Given the description of an element on the screen output the (x, y) to click on. 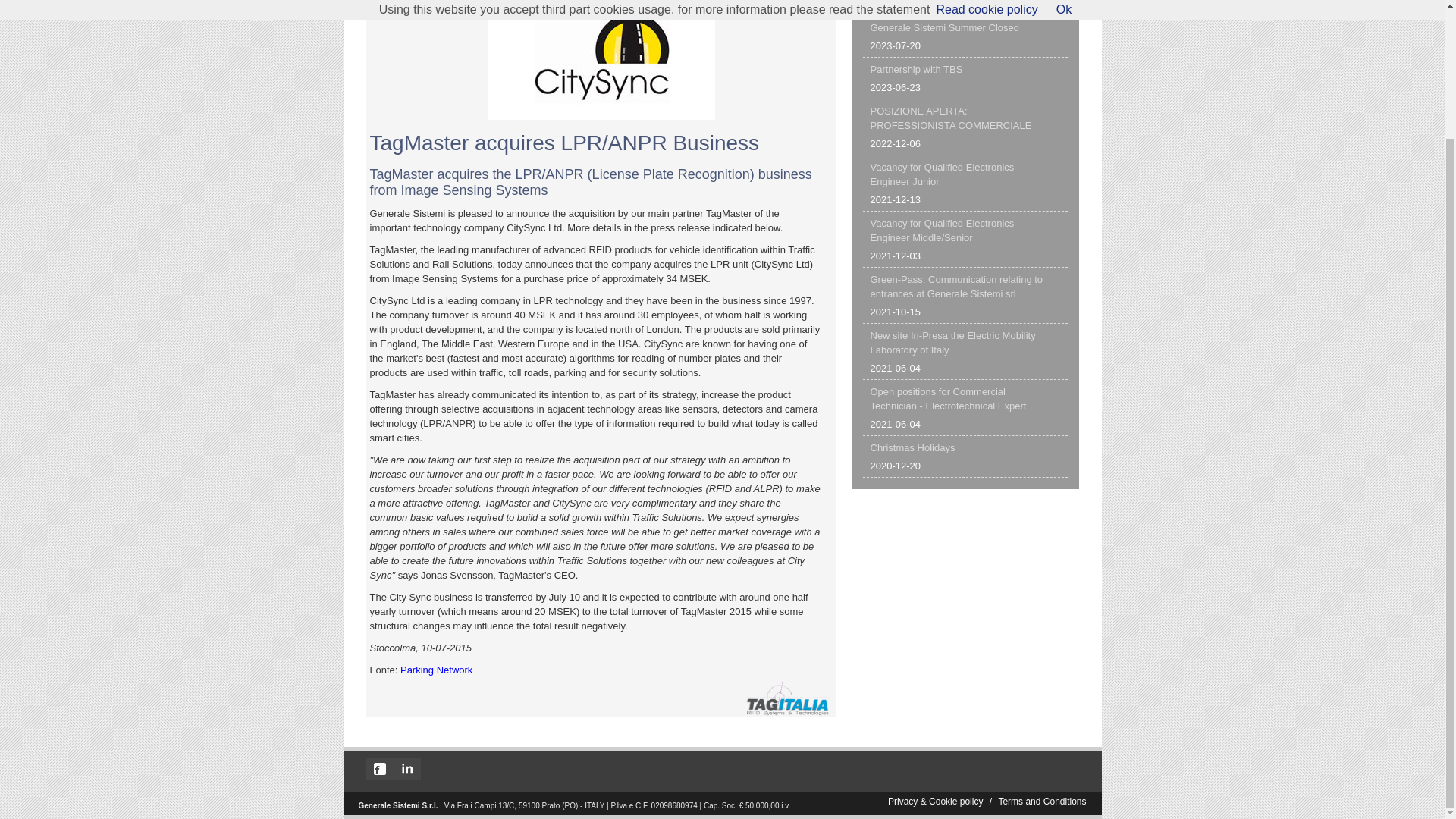
Terms and Conditions (965, 78)
Parking Network (965, 183)
